Given the description of an element on the screen output the (x, y) to click on. 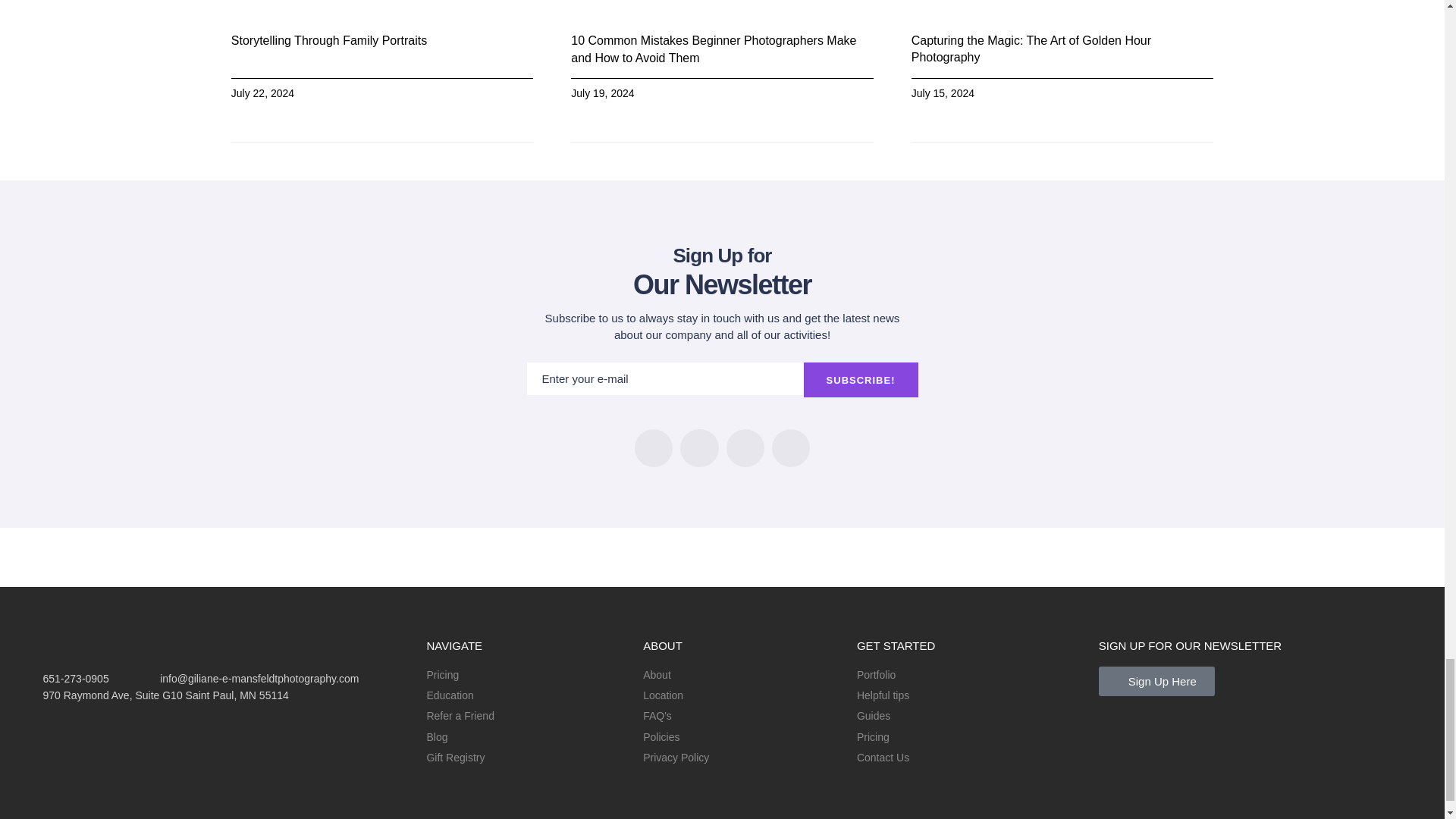
SUBSCRIBE! (860, 379)
Contact Us (970, 757)
Blog (526, 736)
Sign Up Here (1156, 681)
Education (526, 695)
Capturing the Magic: The Art of Golden Hour Photography (1031, 48)
About (742, 674)
Privacy Policy (742, 757)
651-273-0905 (58, 678)
Helpful tips (970, 695)
Location (742, 695)
Portfolio (970, 674)
Pricing (526, 674)
Storytelling Through Family Portraits (328, 40)
